Given the description of an element on the screen output the (x, y) to click on. 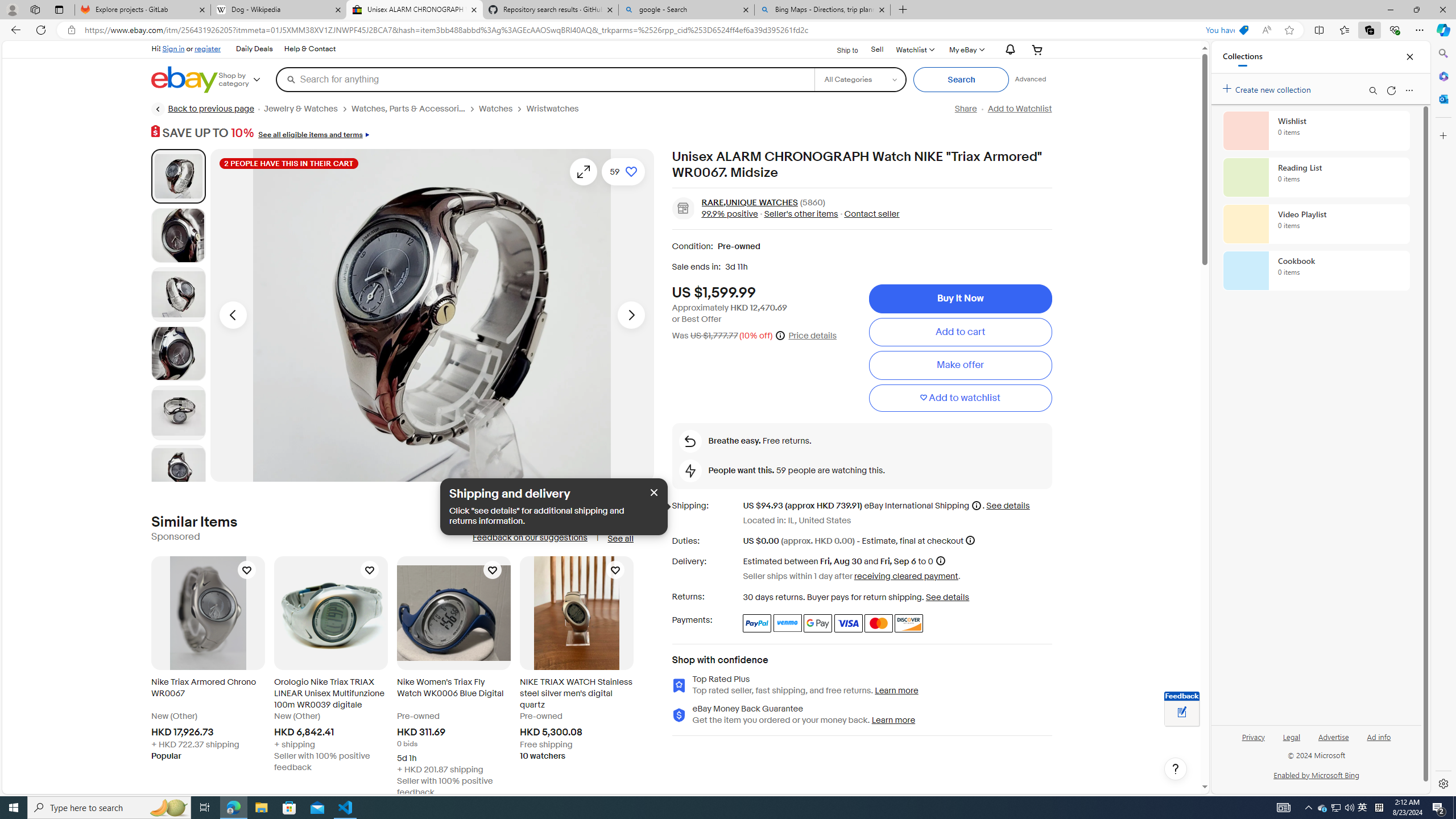
Google Pay (817, 623)
Select a category for search (859, 78)
Watches, Parts & Accessories (407, 108)
Daily Deals (254, 49)
Video Playlist collection, 0 items (1316, 223)
register (207, 48)
Price details (812, 335)
